Given the description of an element on the screen output the (x, y) to click on. 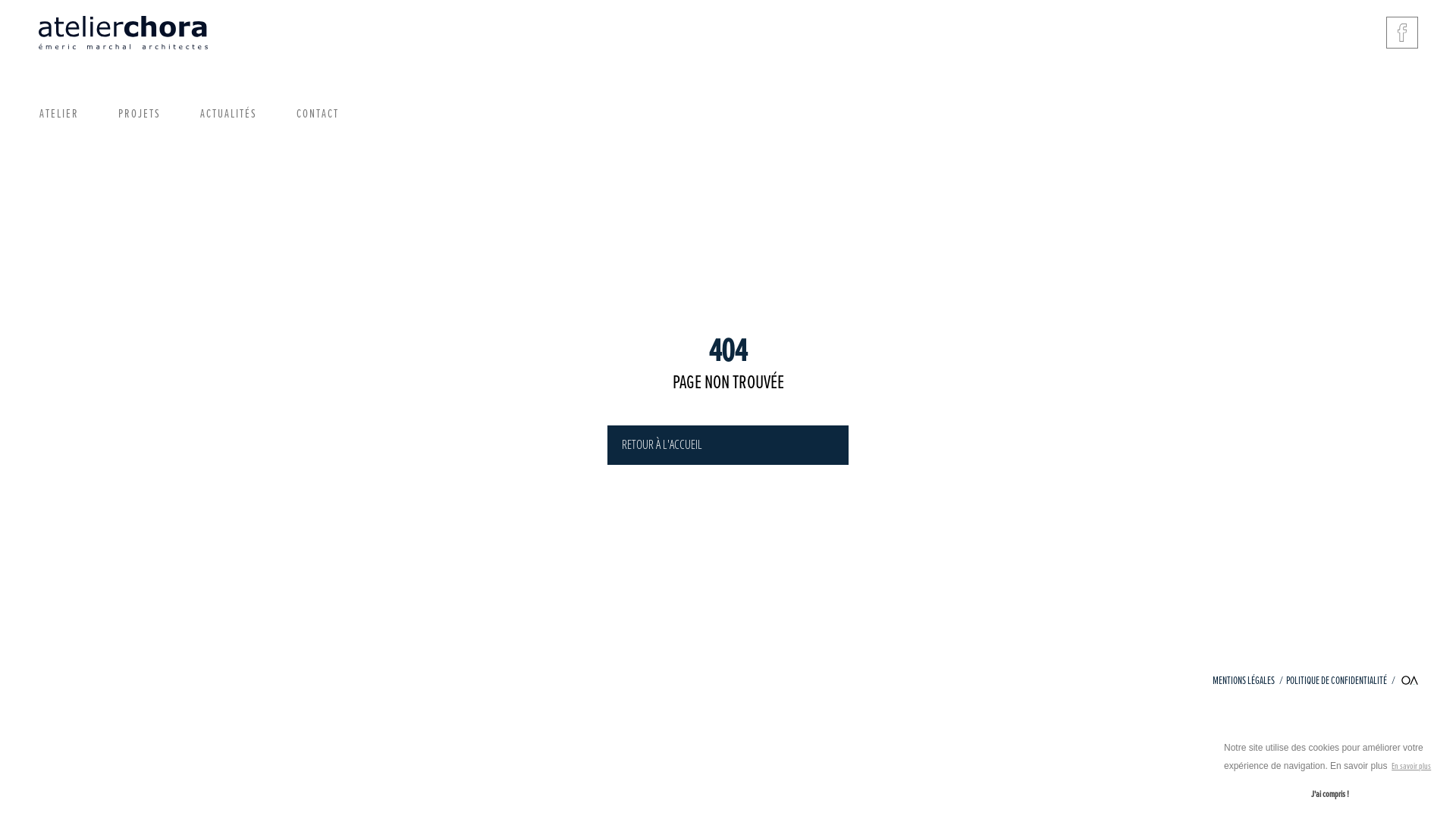
Vers la page d'Accueil Element type: hover (122, 32)
CONTACT Element type: text (317, 114)
Vers la page Facebook Element type: hover (1402, 32)
J'ai compris ! Element type: text (1329, 794)
En savoir plus Element type: text (1411, 766)
PROJETS Element type: text (139, 114)
ATELIER Element type: text (58, 114)
